Given the description of an element on the screen output the (x, y) to click on. 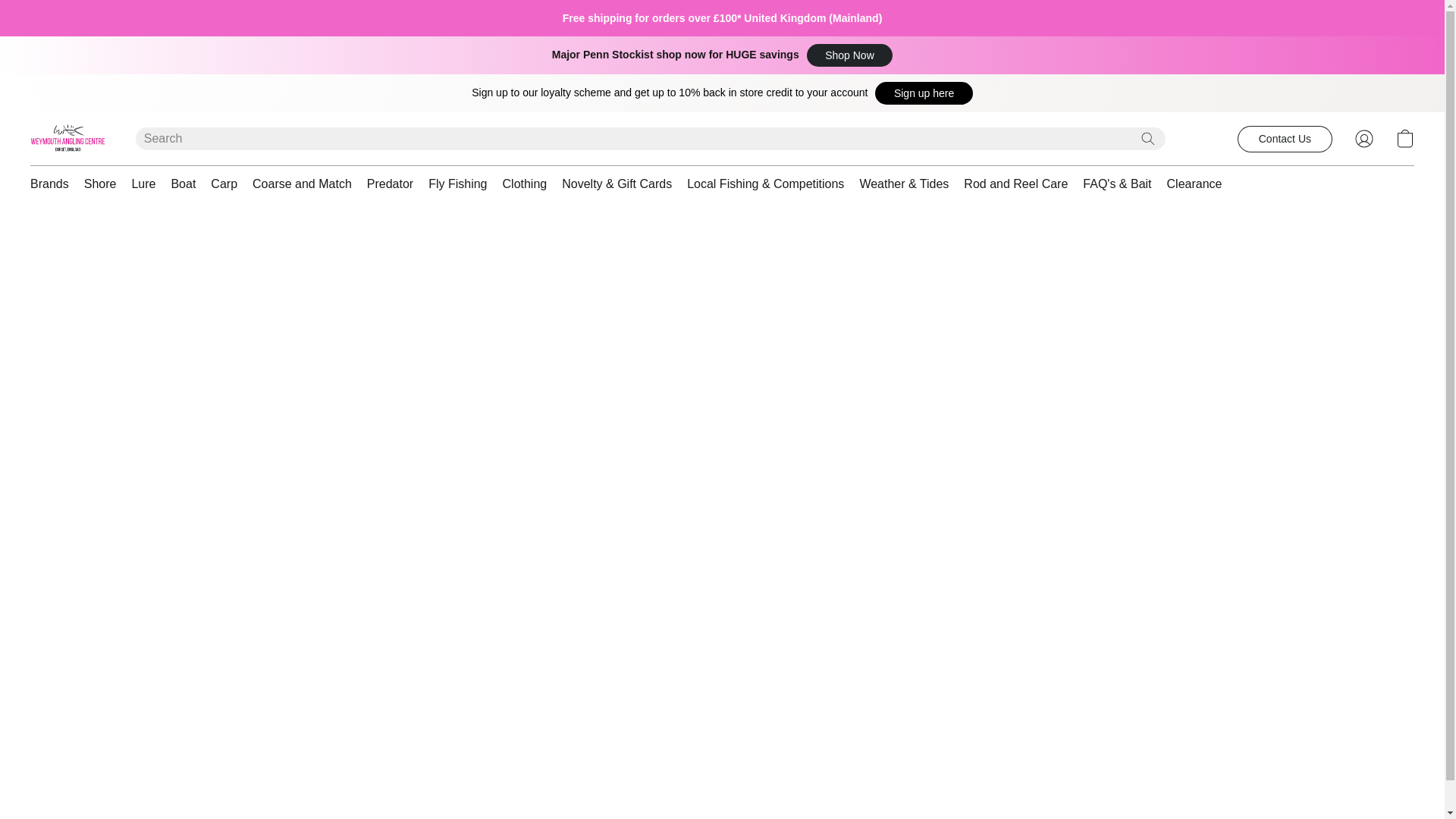
Shore (100, 184)
Predator (389, 184)
Boat (183, 184)
Carp (223, 184)
Fly Fishing (457, 184)
Coarse and Match (301, 184)
Shop Now (849, 55)
Sign up here (923, 92)
Go to your shopping cart (1404, 138)
Lure (143, 184)
